Given the description of an element on the screen output the (x, y) to click on. 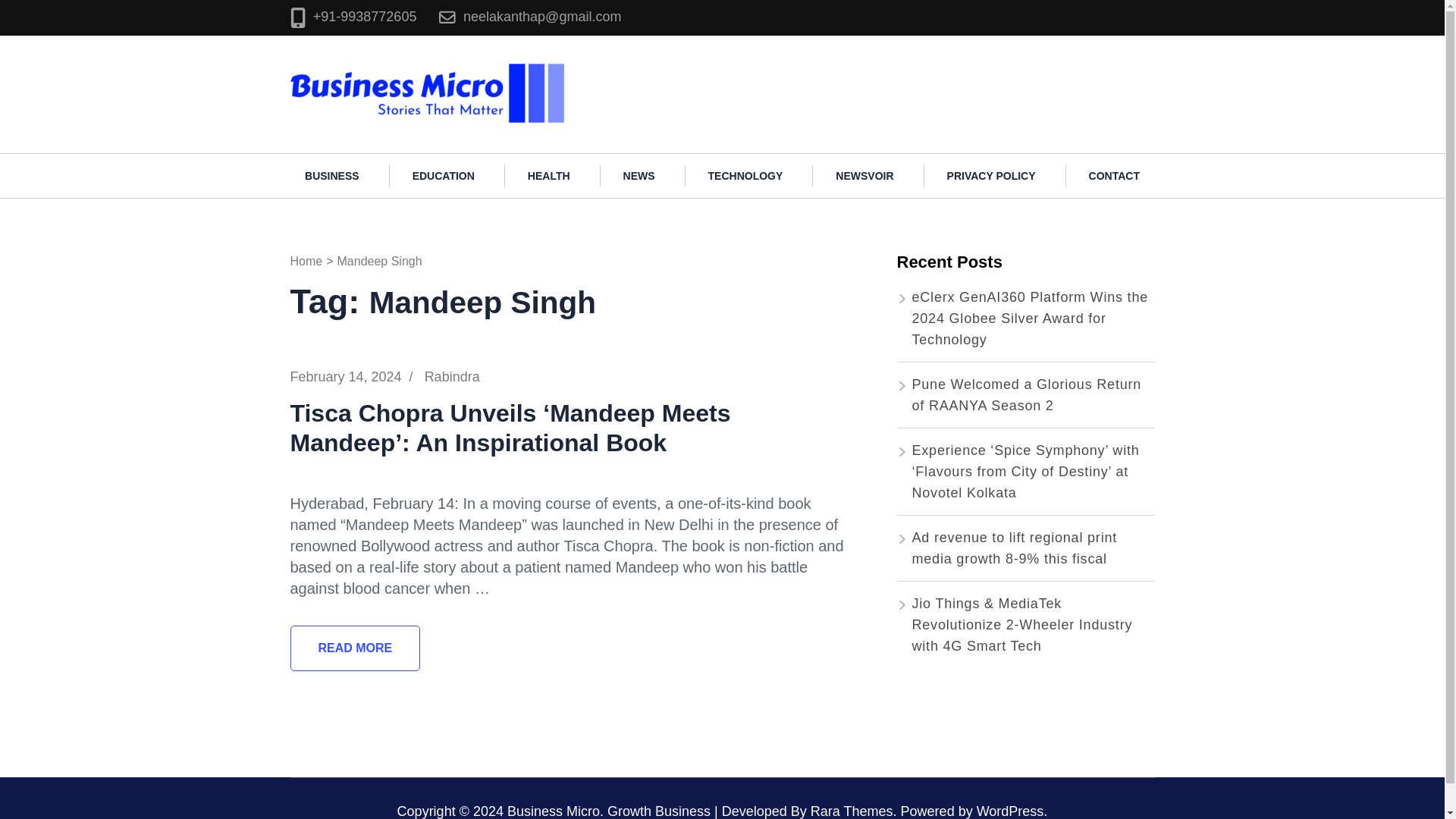
EDUCATION (444, 175)
BUSINESS (331, 175)
NEWS (639, 175)
READ MORE (354, 647)
CONTACT (1113, 175)
Rara Themes (851, 811)
NEWSVOIR (863, 175)
Rabindra (452, 376)
Business Micro (552, 811)
HEALTH (548, 175)
Home (305, 260)
Pune Welcomed a Glorious Return of RAANYA Season 2 (1026, 394)
Business Micro (628, 68)
TECHNOLOGY (745, 175)
